Given the description of an element on the screen output the (x, y) to click on. 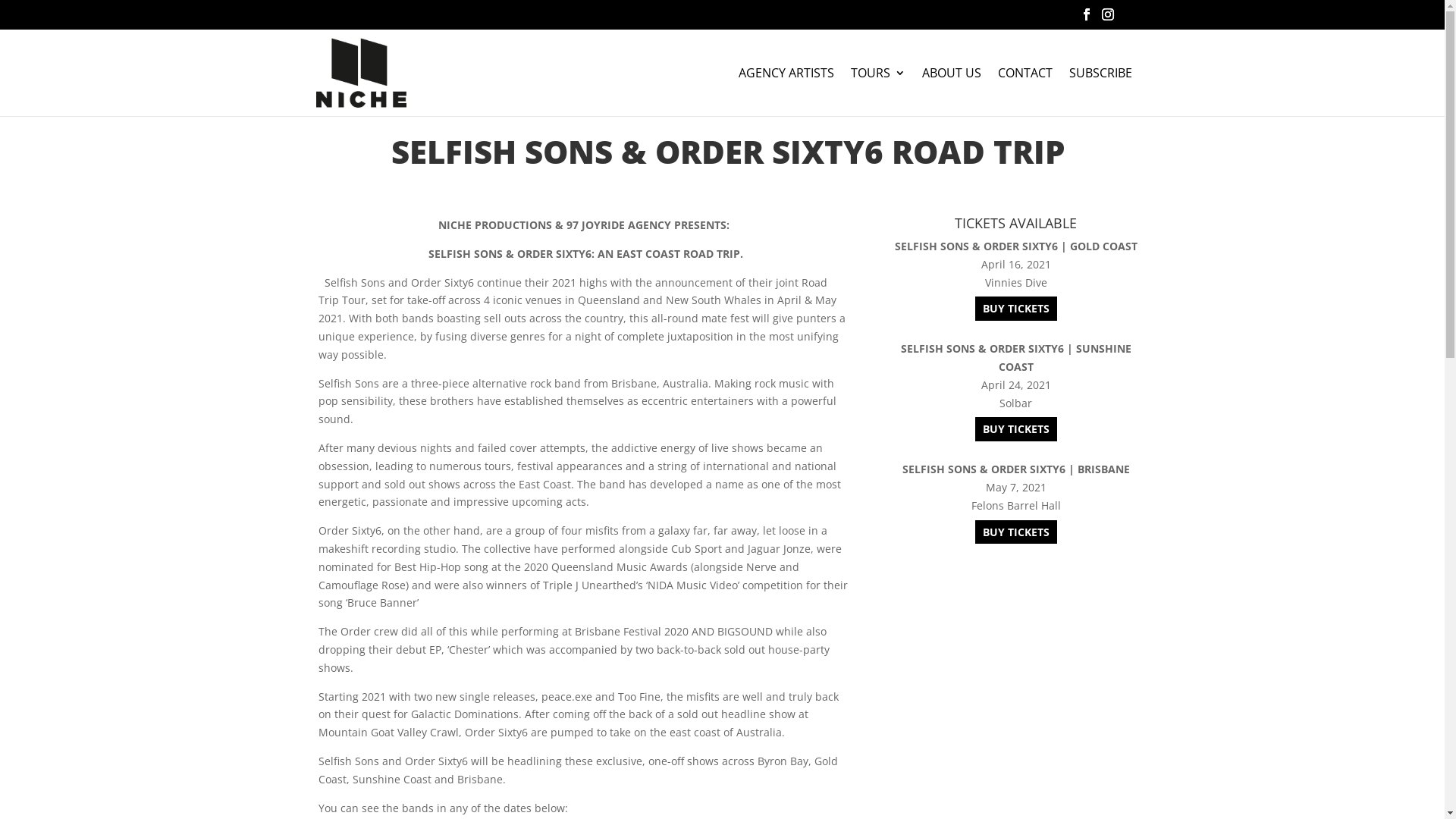
BUY TICKETS Element type: text (1016, 429)
SUBSCRIBE Element type: text (1100, 90)
CONTACT Element type: text (1024, 90)
ABOUT US Element type: text (951, 90)
BUY TICKETS Element type: text (1016, 532)
AGENCY ARTISTS Element type: text (786, 90)
BUY TICKETS Element type: text (1016, 308)
TOURS Element type: text (877, 90)
